Given the description of an element on the screen output the (x, y) to click on. 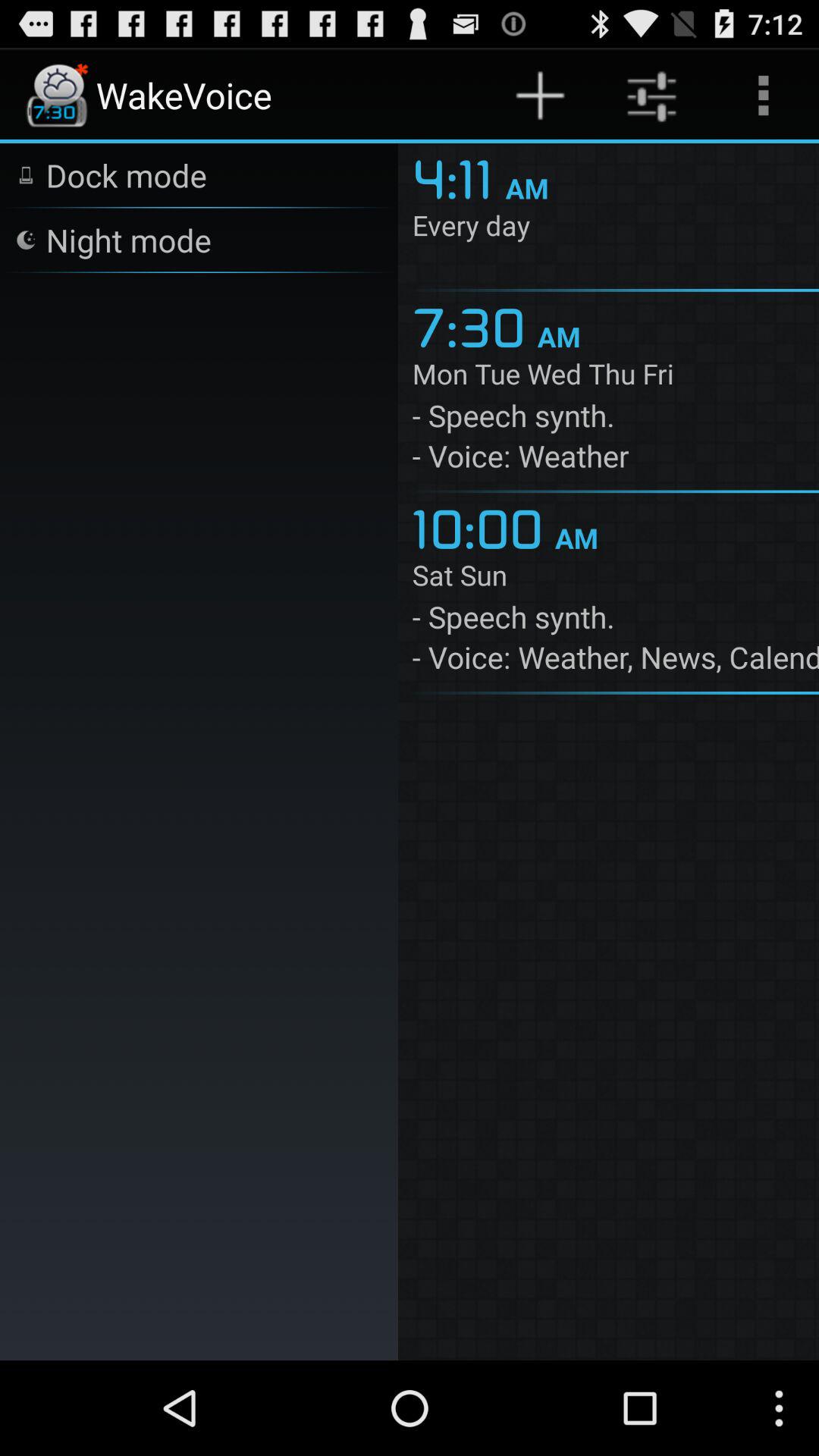
press the every day (615, 228)
